Given the description of an element on the screen output the (x, y) to click on. 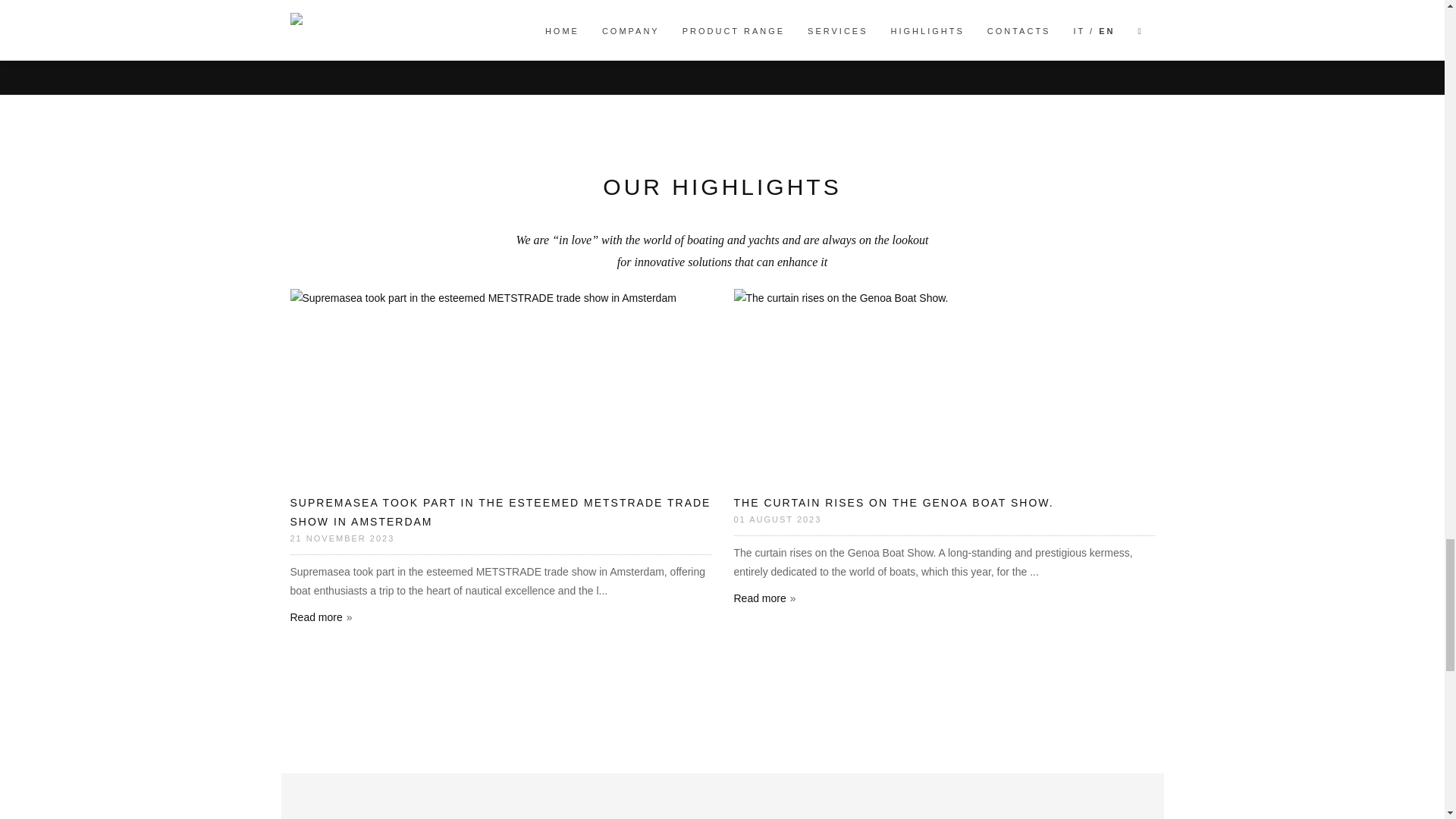
Read more (764, 598)
Read more (320, 616)
DOWNLOAD THE CATALOGUE (1048, 9)
